Given the description of an element on the screen output the (x, y) to click on. 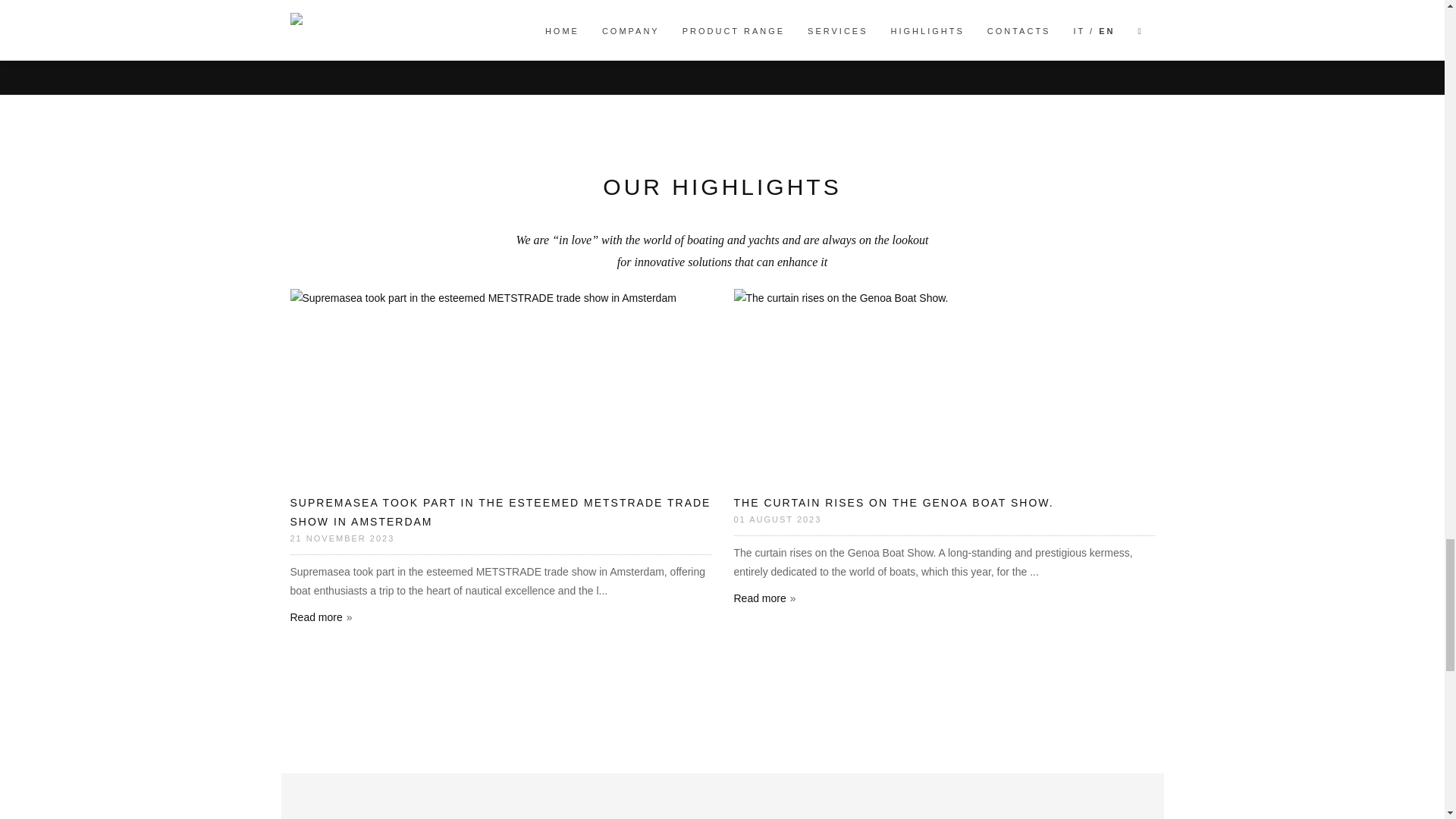
Read more (764, 598)
Read more (320, 616)
DOWNLOAD THE CATALOGUE (1048, 9)
